Given the description of an element on the screen output the (x, y) to click on. 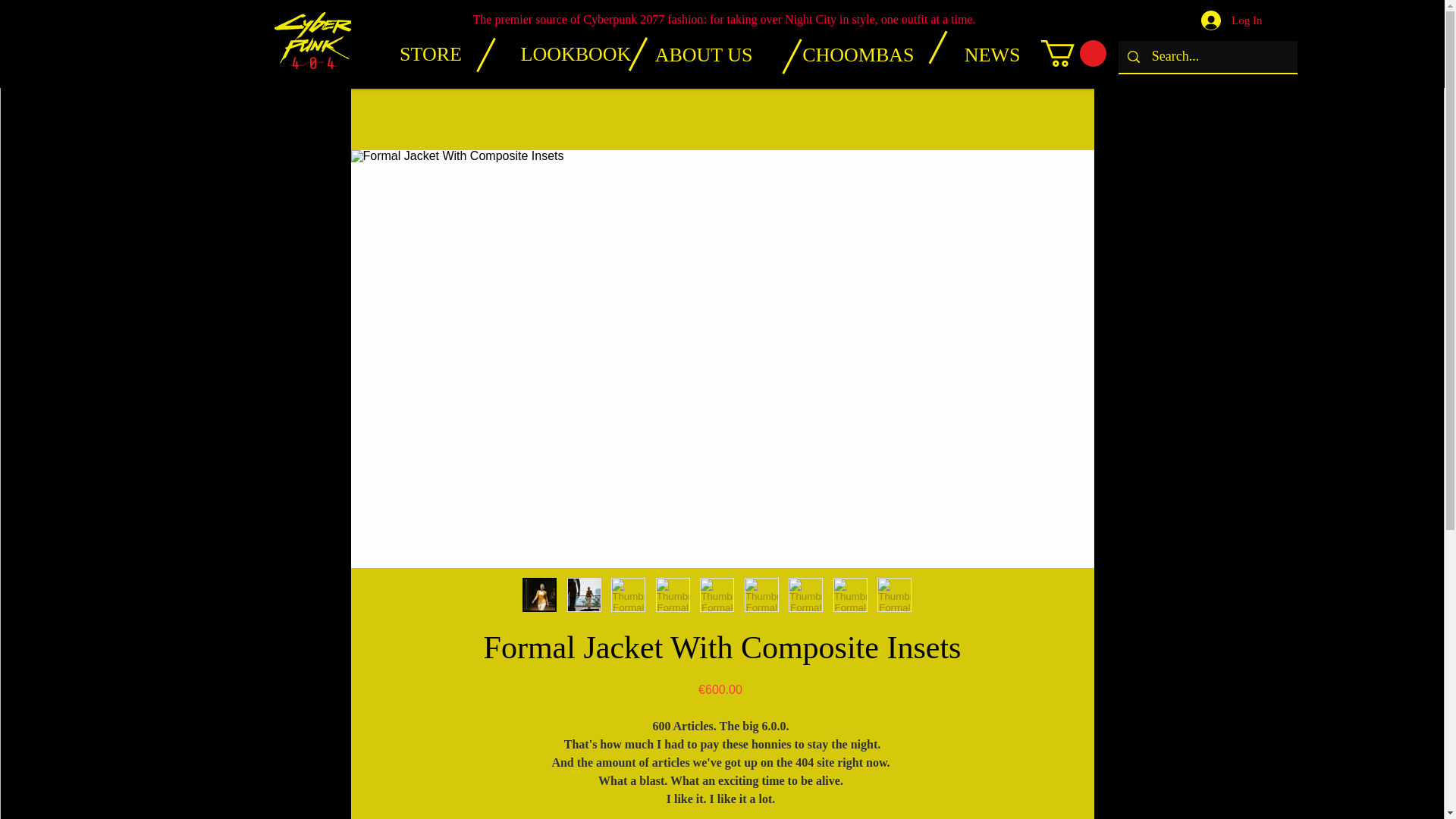
STORE (430, 54)
ABOUT US (688, 54)
CHOOMBAS (845, 54)
LOOKBOOK (574, 54)
Log In (1231, 20)
NEWS (977, 54)
